Given the description of an element on the screen output the (x, y) to click on. 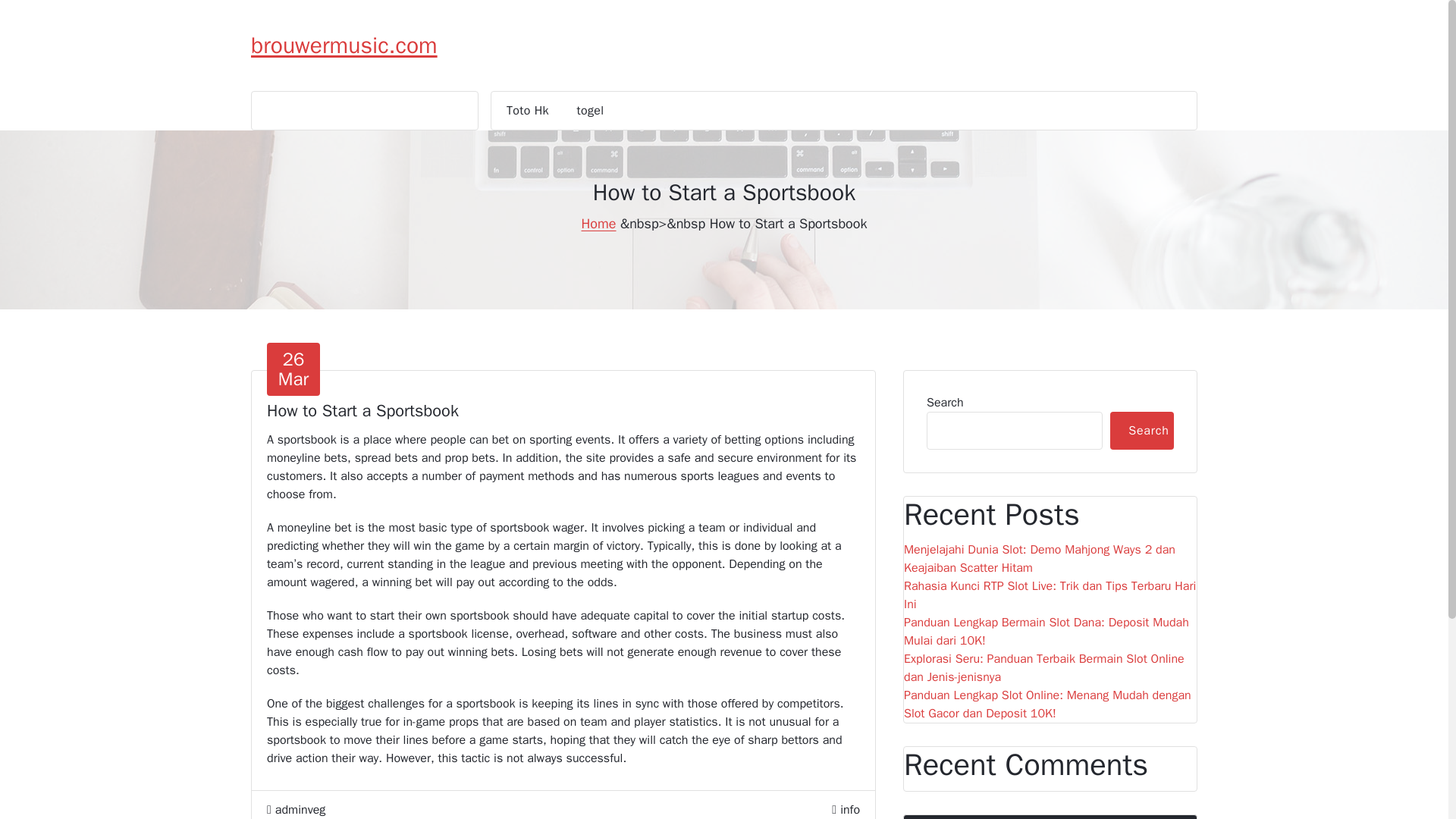
Home (597, 223)
togel (590, 110)
adminveg (295, 809)
togel (590, 110)
info (850, 809)
Toto Hk (527, 110)
Toto Hk (527, 110)
Rahasia Kunci RTP Slot Live: Trik dan Tips Terbaru Hari Ini (1050, 595)
brouwermusic.com (344, 44)
adminveg (295, 809)
